Given the description of an element on the screen output the (x, y) to click on. 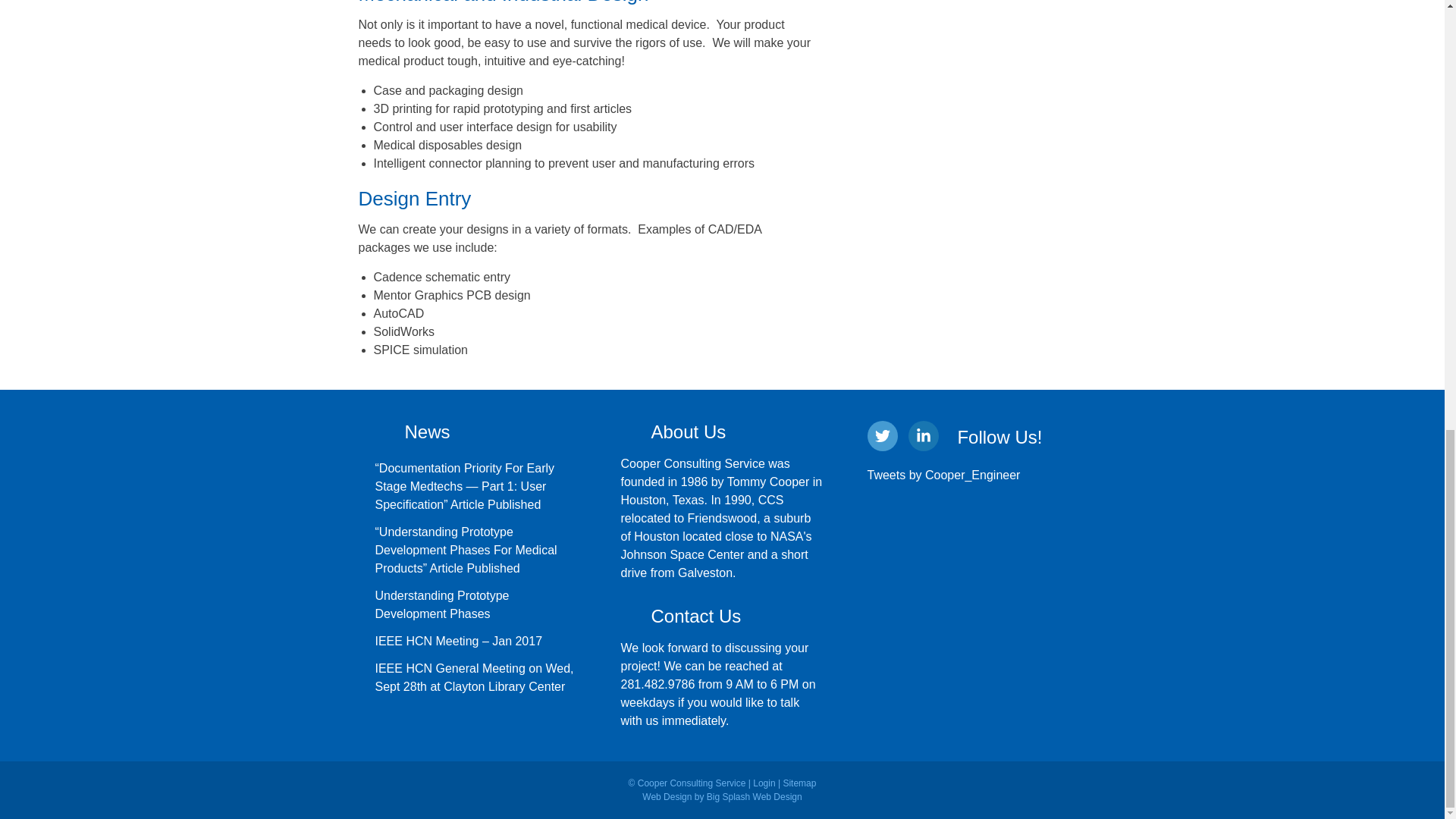
Big Splash Web Design (754, 796)
Login (763, 783)
Web Design (666, 796)
Sitemap (799, 783)
Understanding Prototype Development Phases (441, 603)
